Given the description of an element on the screen output the (x, y) to click on. 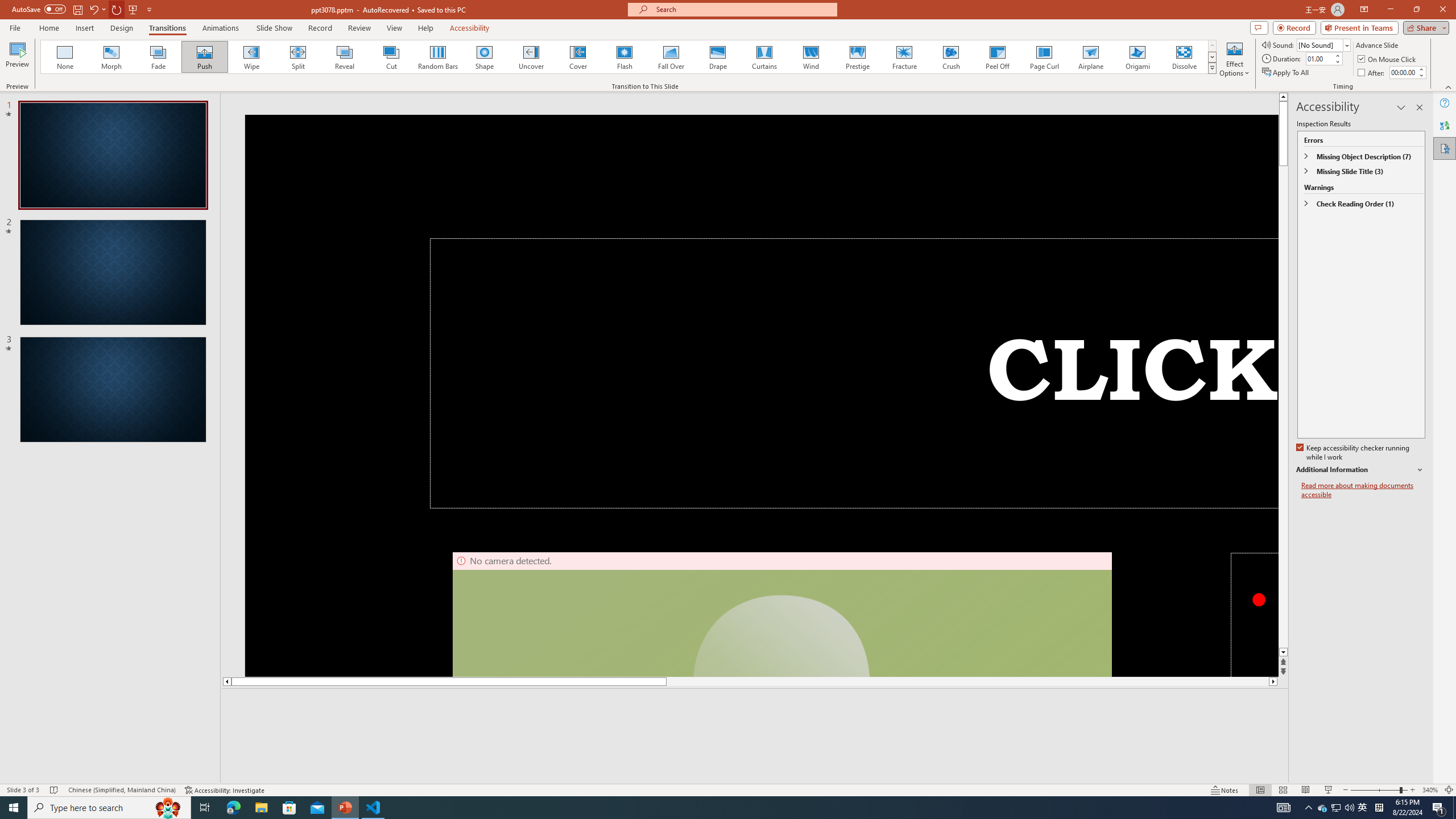
Push (205, 56)
Duration (1319, 58)
